Given the description of an element on the screen output the (x, y) to click on. 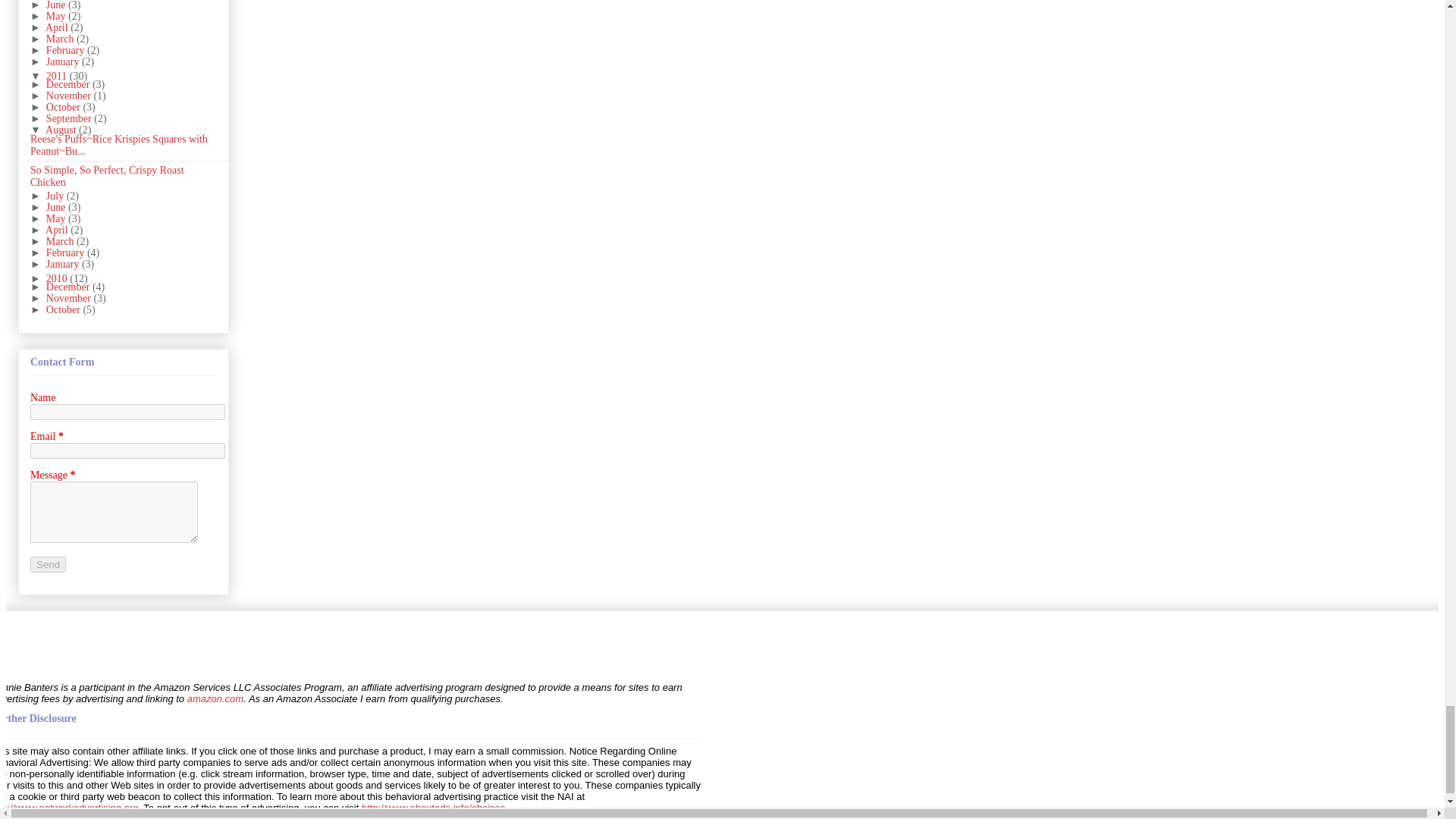
Send (47, 564)
